Given the description of an element on the screen output the (x, y) to click on. 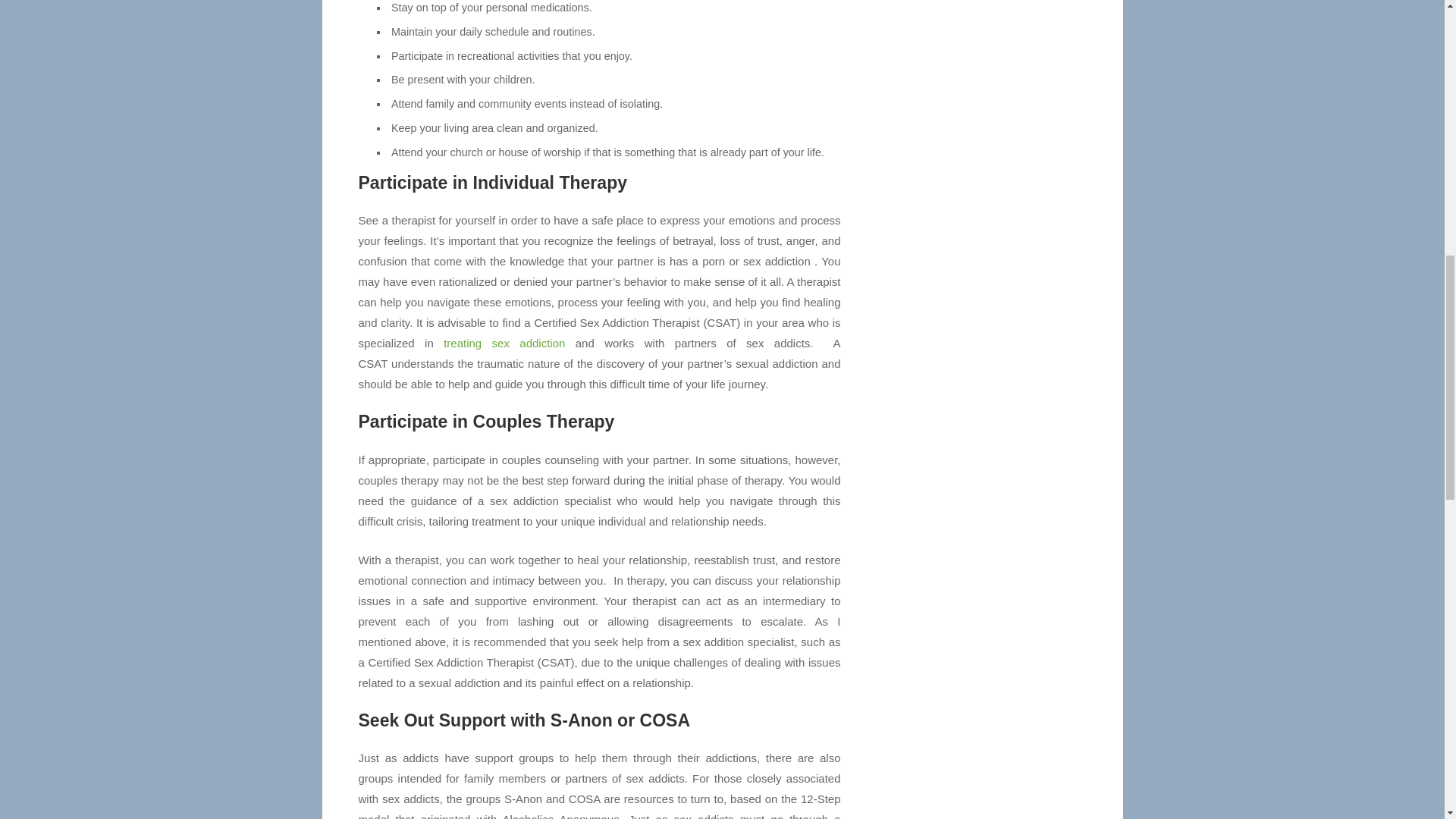
treating sex addiction (504, 342)
